Given the description of an element on the screen output the (x, y) to click on. 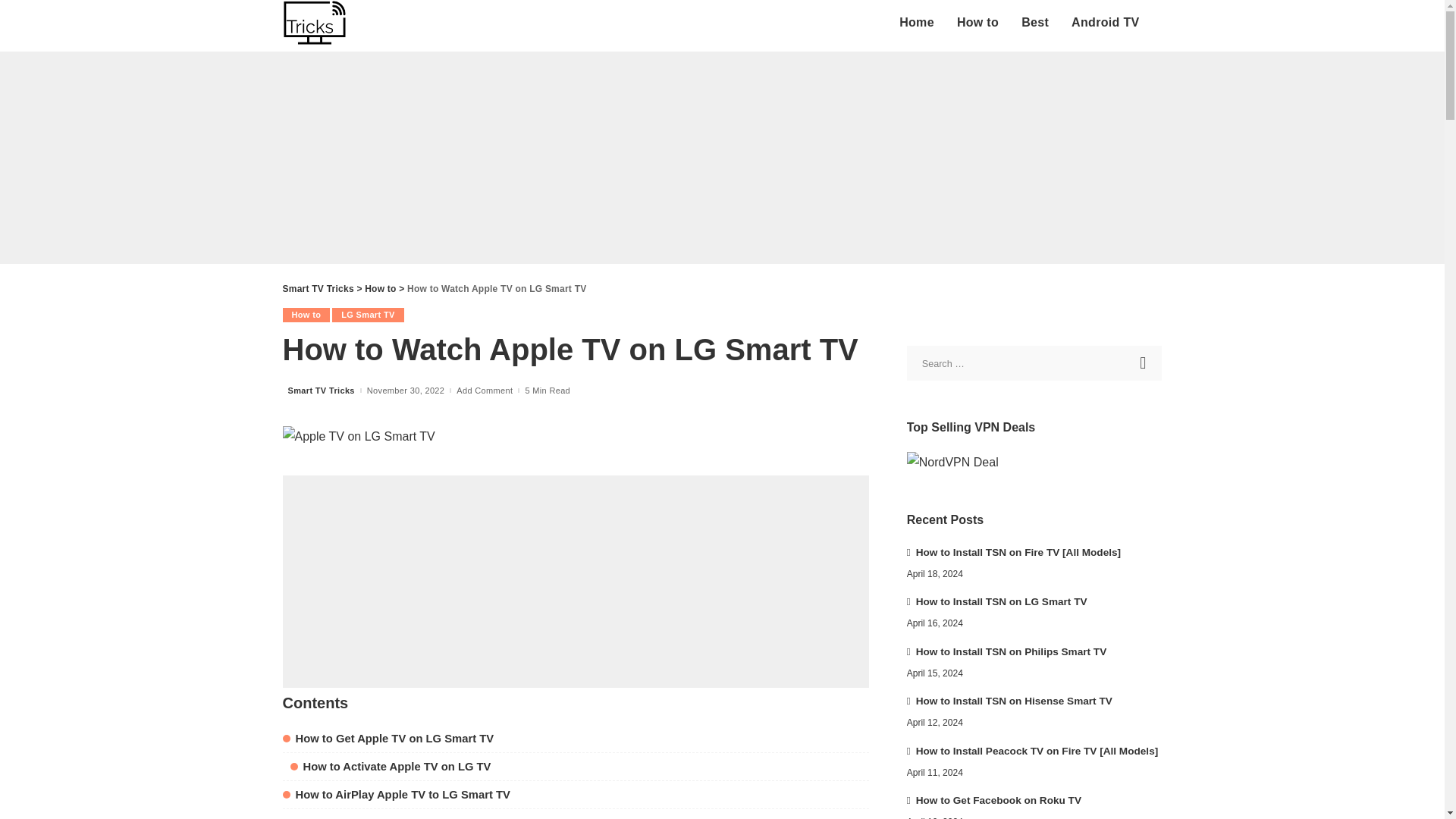
Search (1143, 362)
Home (916, 22)
Smart TV Tricks (321, 390)
How to (306, 314)
How to AirPlay Apple TV to LG Smart TV (395, 794)
Add Comment (484, 390)
How to (380, 288)
Best (1034, 22)
Smart TV Tricks (314, 22)
LG Smart TV (367, 314)
Smart TV Tricks (317, 288)
FAQs (303, 817)
Android TV (1104, 22)
How to Activate Apple TV on LG TV (389, 766)
